Given the description of an element on the screen output the (x, y) to click on. 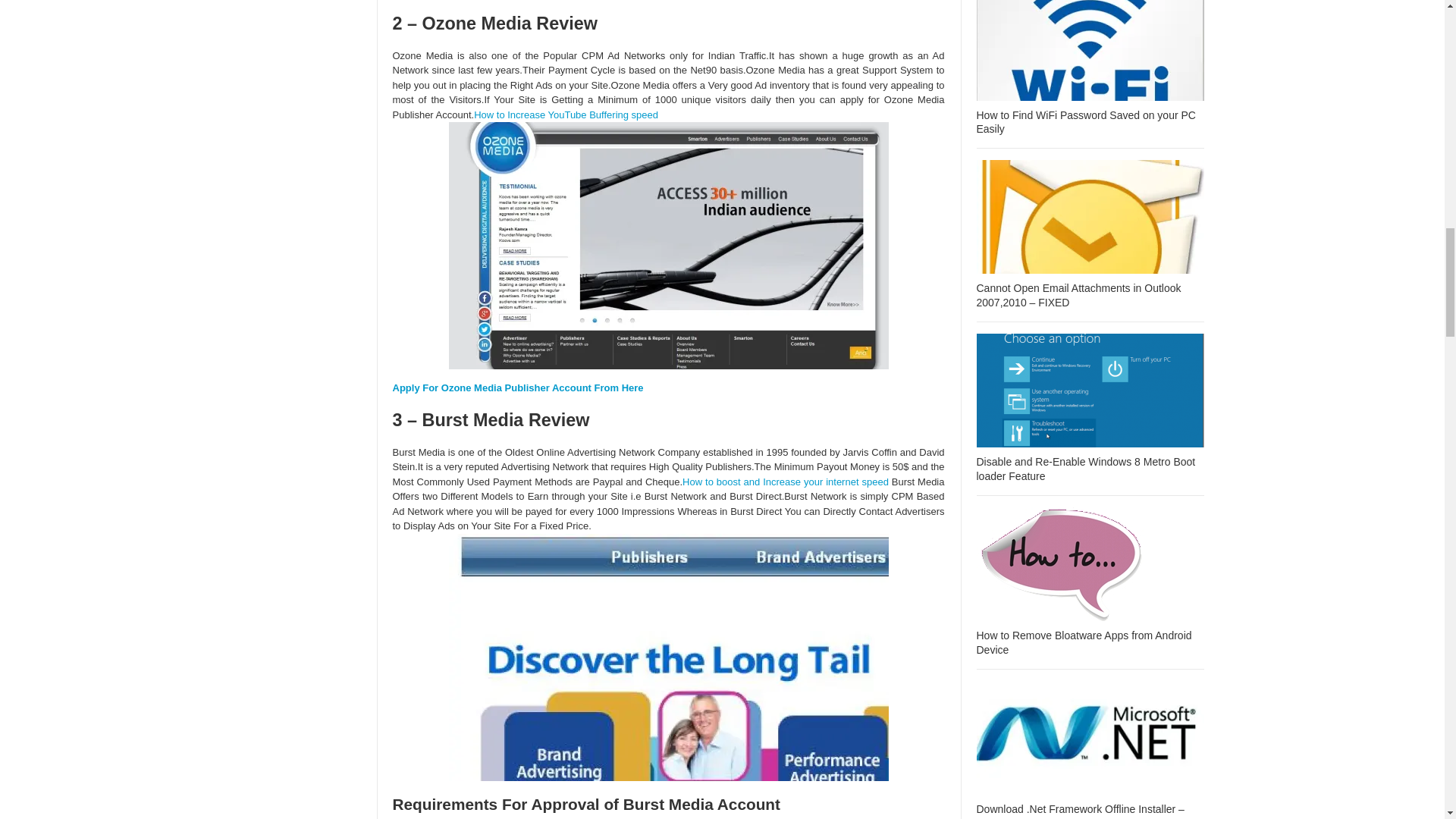
Apply For Ozone Media Publisher Account From Here (518, 387)
How to boost and Increase your internet speed (785, 481)
How to Increase YouTube Buffering speed (566, 114)
